Given the description of an element on the screen output the (x, y) to click on. 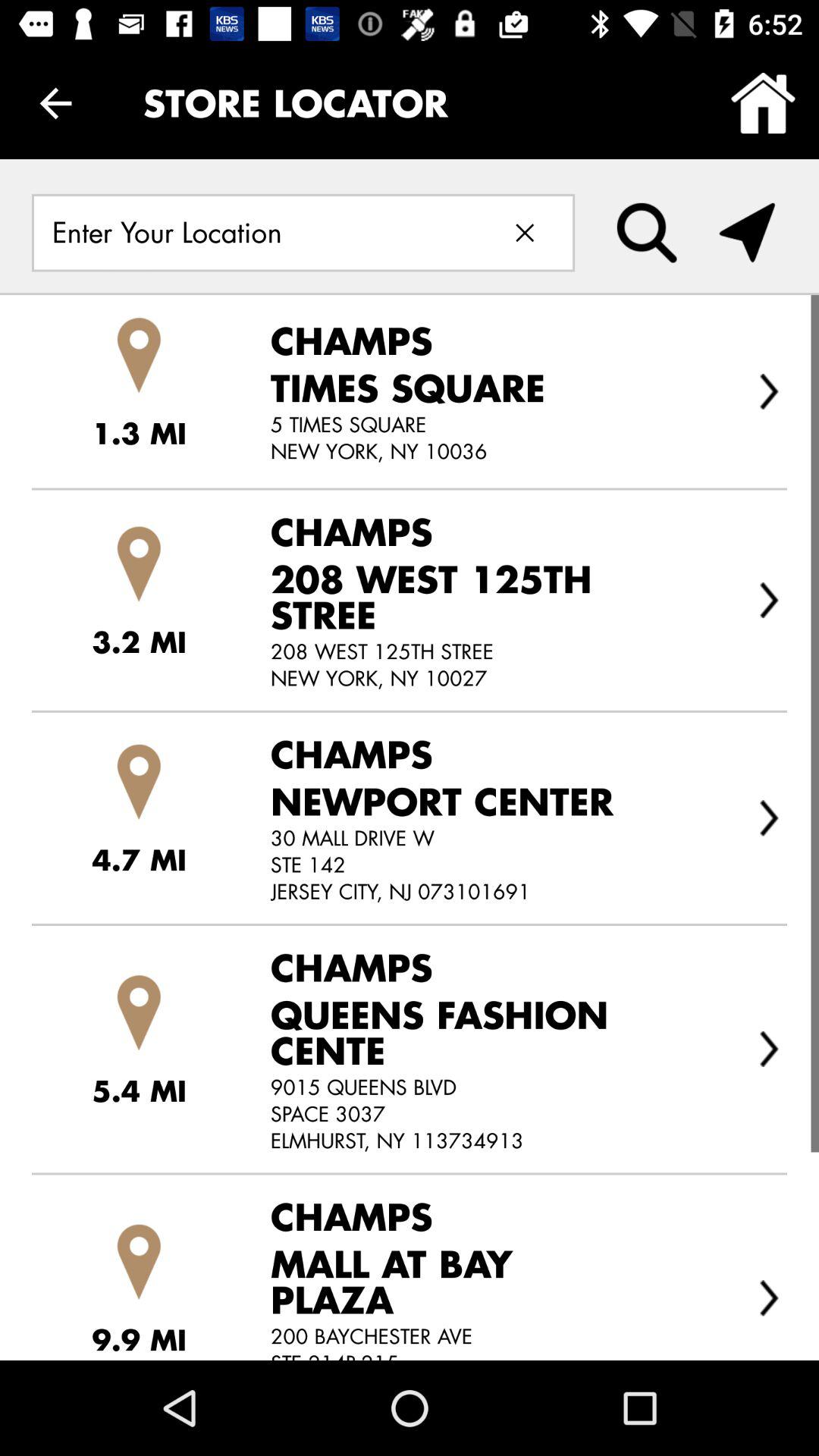
launch the icon next to store locator icon (55, 103)
